Given the description of an element on the screen output the (x, y) to click on. 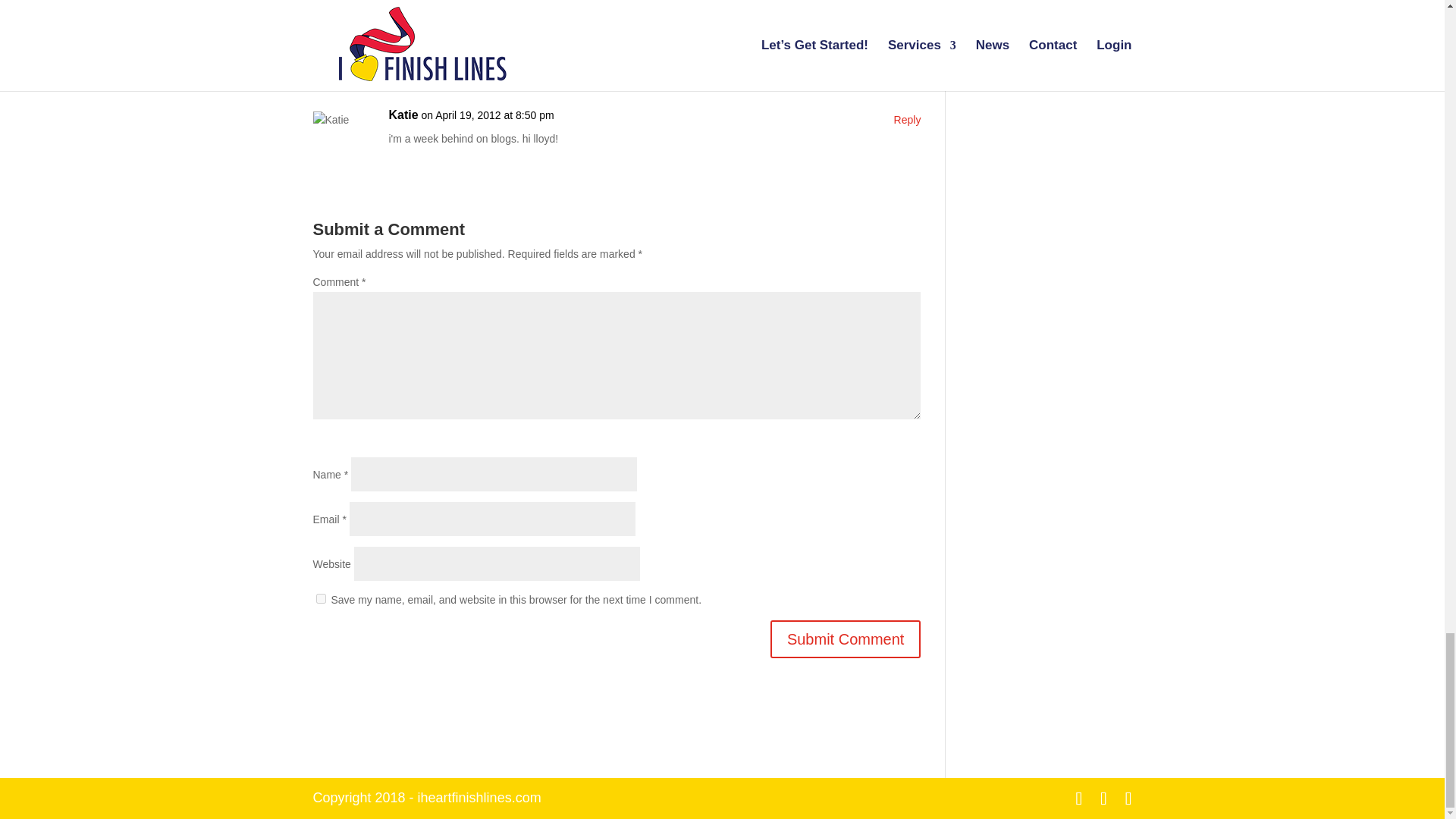
Jamoosh (414, 13)
Katie (402, 115)
Submit Comment (845, 638)
yes (319, 598)
Reply (907, 120)
Submit Comment (845, 638)
Reply (907, 18)
